Given the description of an element on the screen output the (x, y) to click on. 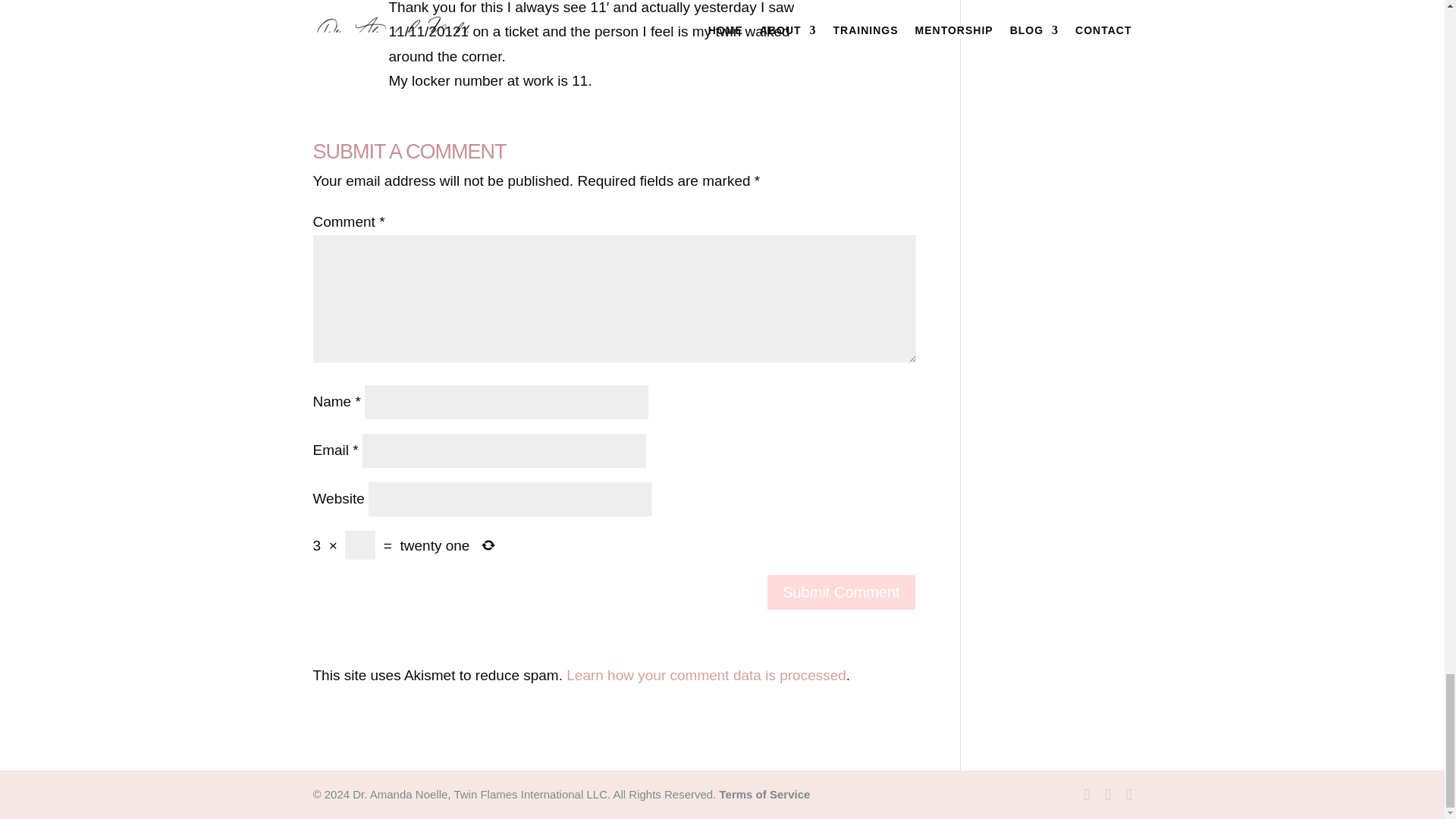
Submit Comment (841, 592)
